Given the description of an element on the screen output the (x, y) to click on. 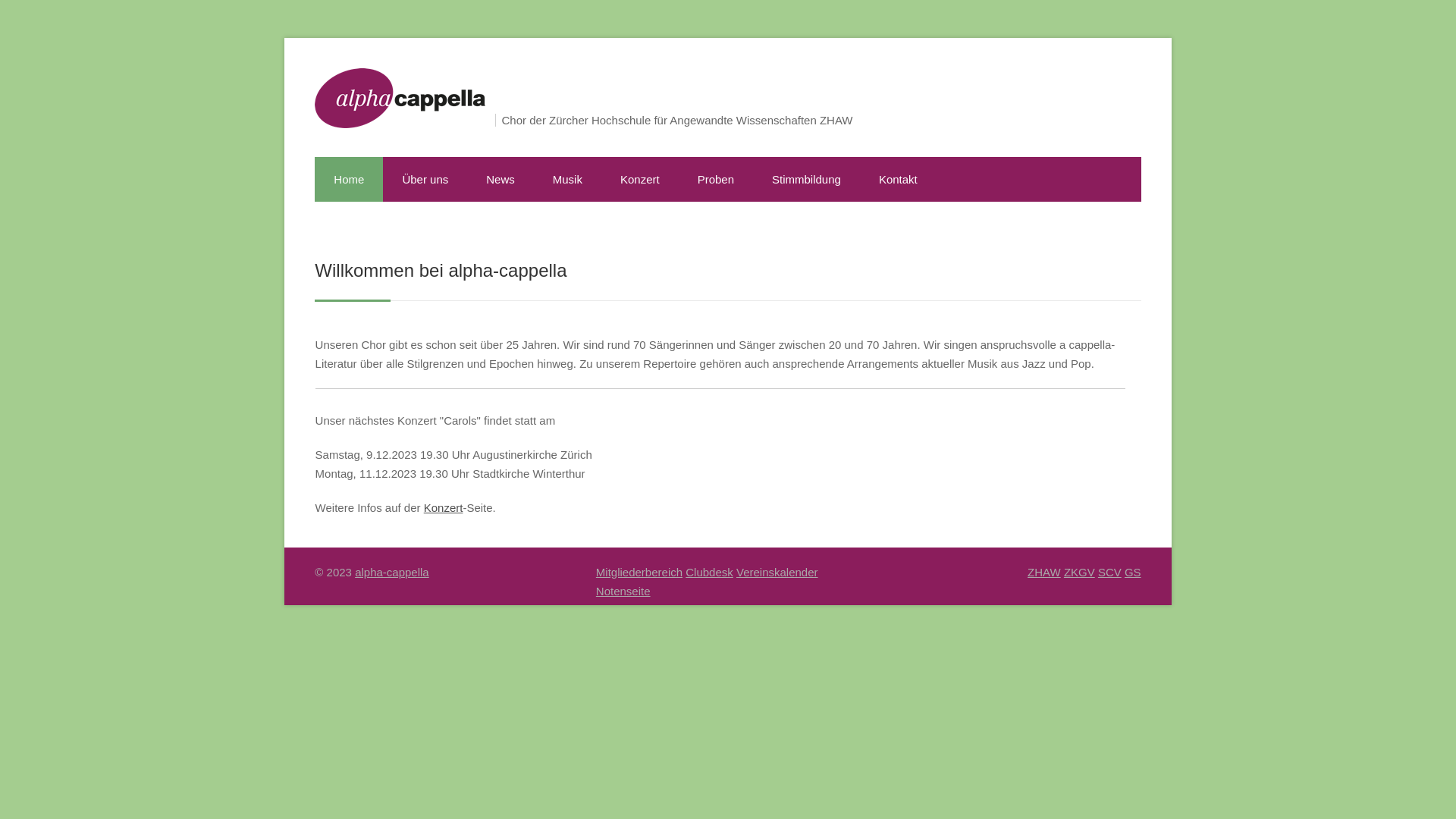
GS Element type: text (1132, 571)
Clubdesk Element type: text (709, 571)
ZKGV Element type: text (1079, 571)
Stimmbildung Element type: text (806, 178)
News Element type: text (500, 178)
SCV Element type: text (1109, 571)
Home Element type: text (348, 178)
Proben Element type: text (715, 178)
Musik Element type: text (567, 178)
Mitgliederbereich Element type: text (639, 571)
Notenseite Element type: text (623, 590)
Konzert Element type: text (639, 178)
alpha-cappella Element type: text (391, 571)
Vereinskalender Element type: text (777, 571)
ZHAW Element type: text (1043, 571)
Kontakt Element type: text (897, 178)
Konzert Element type: text (443, 507)
